Given the description of an element on the screen output the (x, y) to click on. 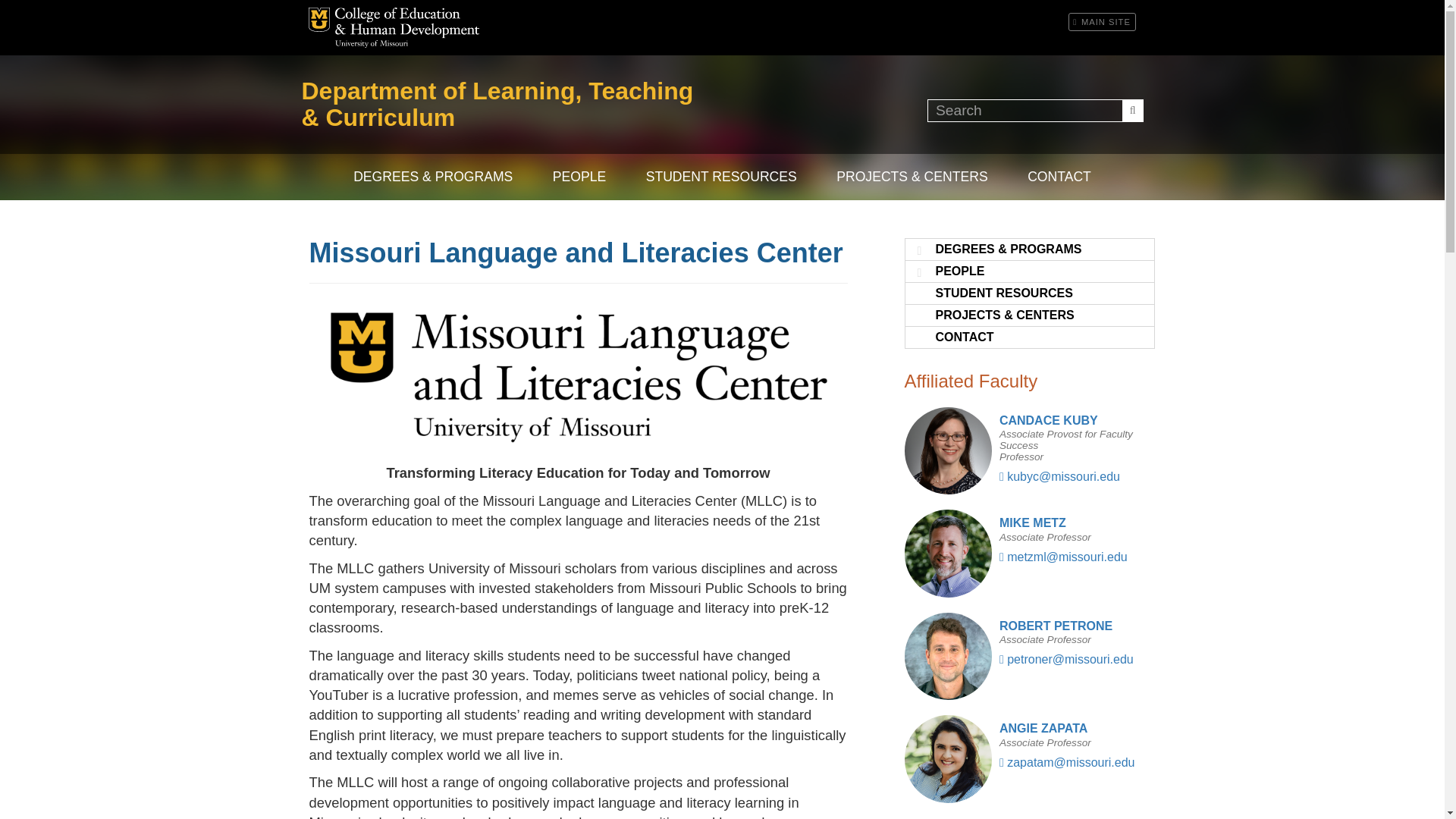
SEARCH (1132, 109)
PEOPLE (579, 176)
Search: (1034, 109)
STUDENT RESOURCES (721, 176)
University of Missouri (371, 43)
MAIN SITE (1101, 22)
CONTACT (1059, 176)
